Given the description of an element on the screen output the (x, y) to click on. 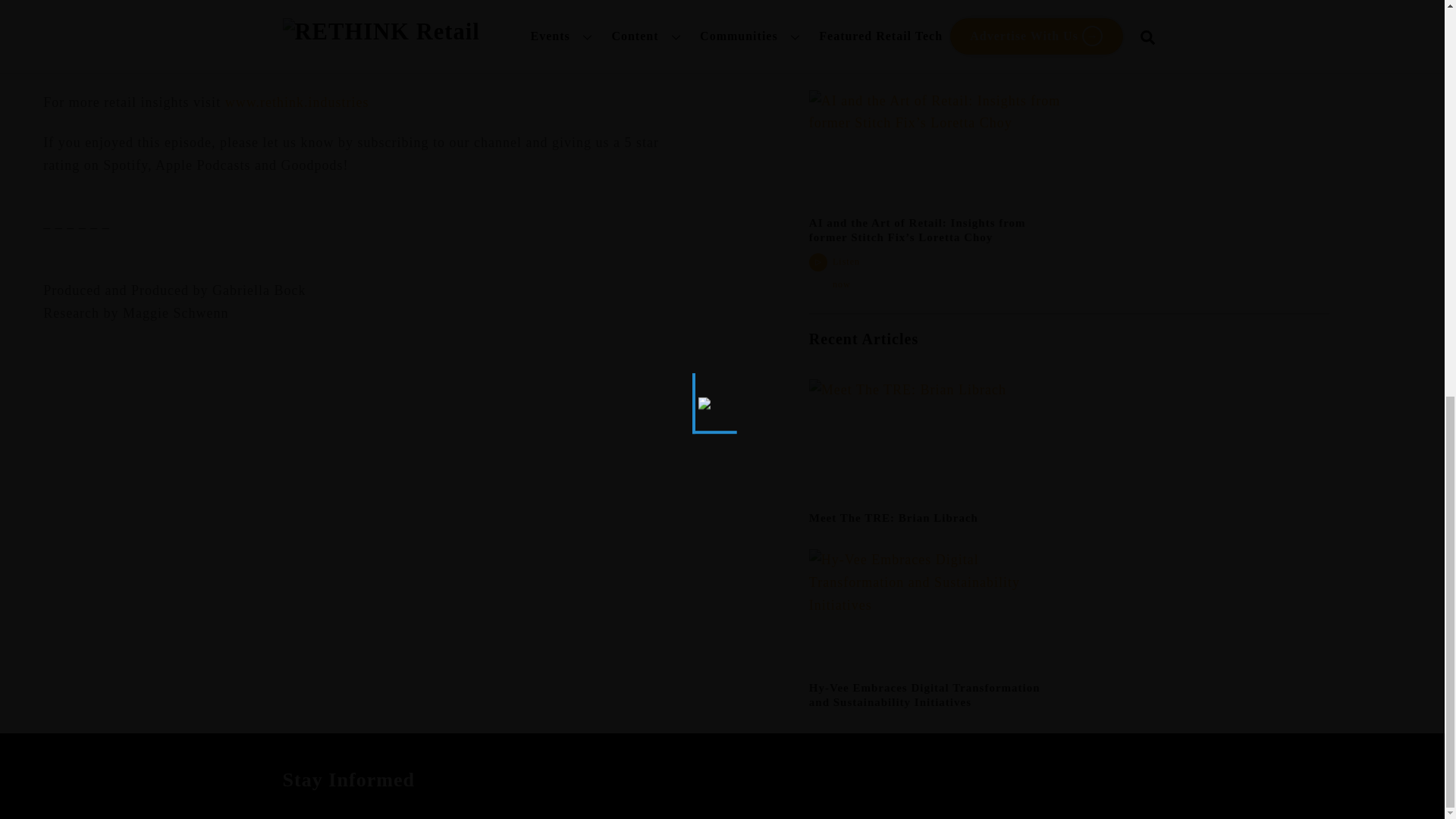
Website-General-Article-Template-5 (935, 614)
www.rethink.industries (297, 102)
Listen now (836, 272)
Meet The TRE: Brian Librach (893, 517)
Listen now (836, 49)
